Given the description of an element on the screen output the (x, y) to click on. 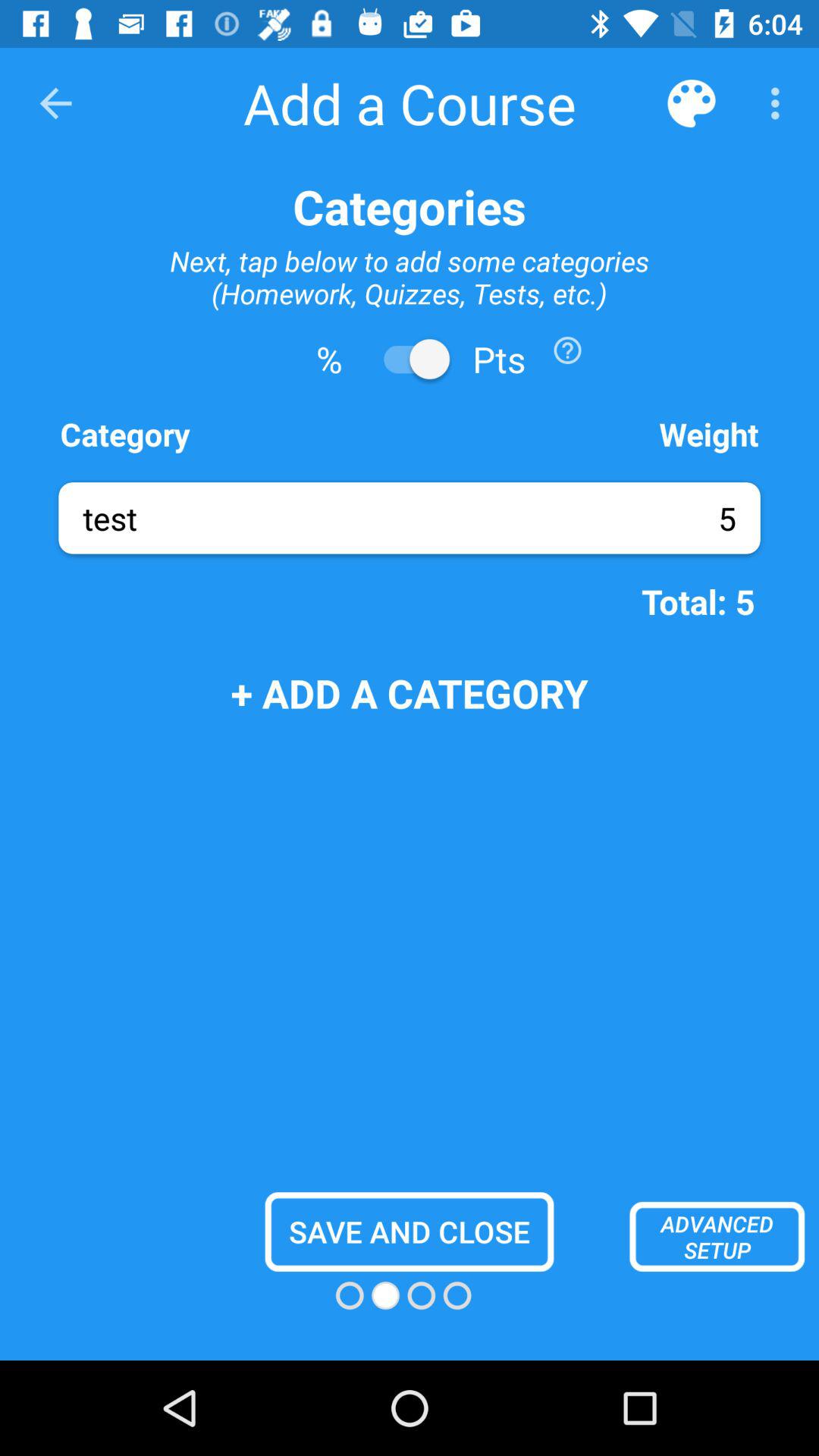
ask a question (567, 350)
